Given the description of an element on the screen output the (x, y) to click on. 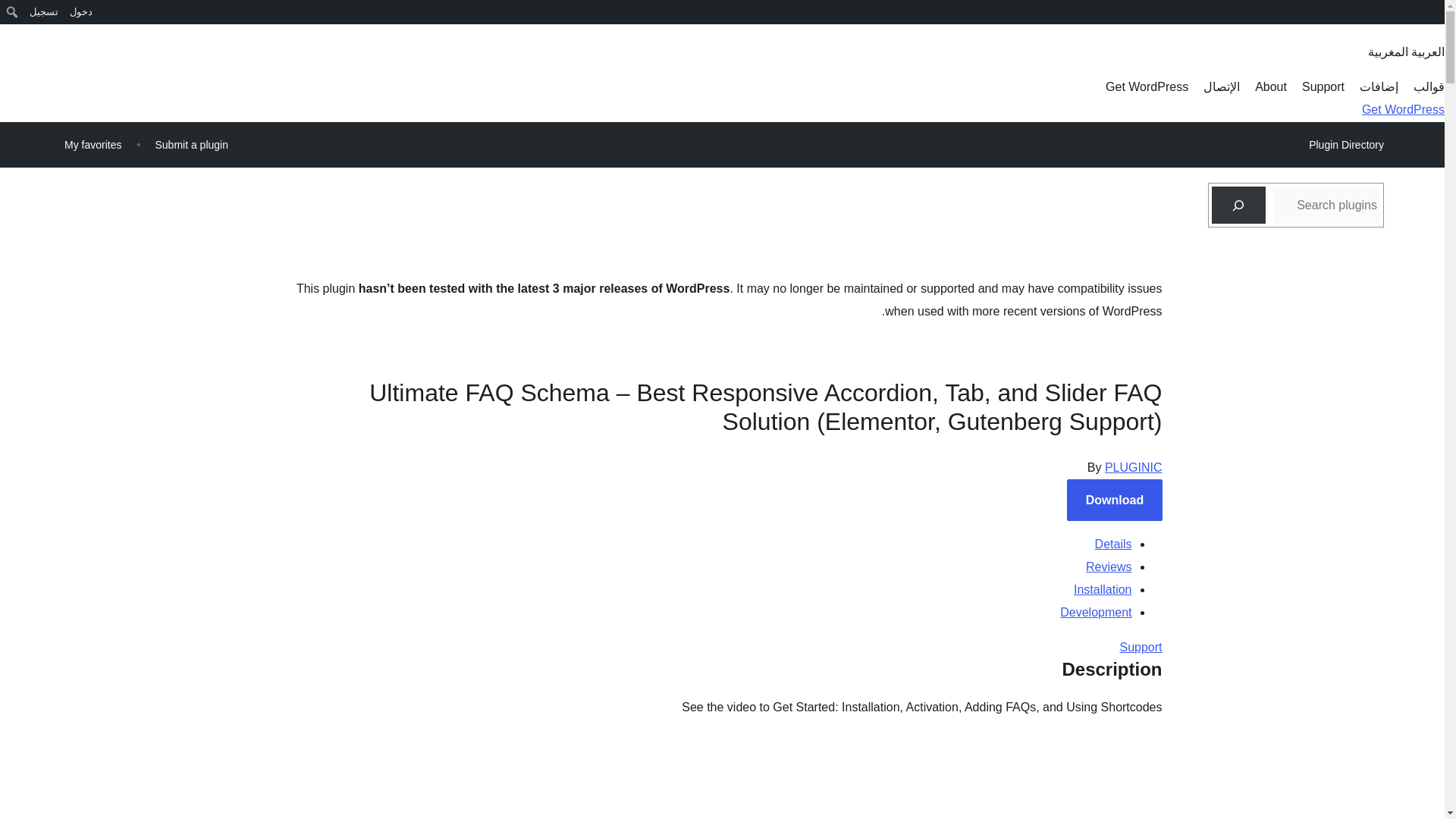
Get WordPress (1146, 87)
Reviews (1108, 566)
Plugin Directory (1345, 144)
PLUGINIC (1133, 467)
My favorites (93, 144)
Development (1095, 612)
Support (1140, 646)
Details (1113, 543)
Installation (1103, 589)
Download (1114, 499)
About (1271, 87)
Support (1322, 87)
Submit a plugin (191, 144)
